Given the description of an element on the screen output the (x, y) to click on. 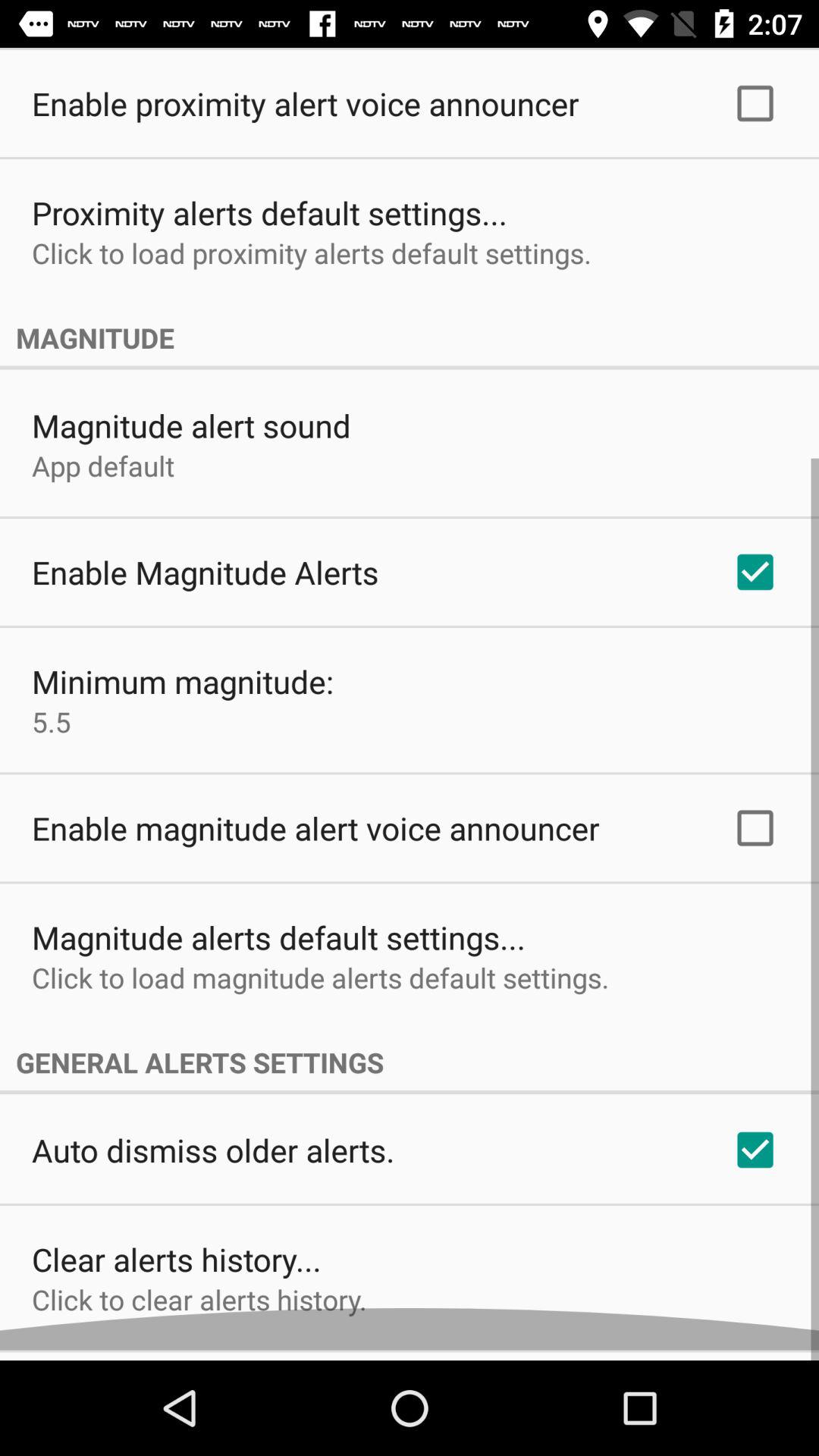
press the auto dismiss older item (212, 1159)
